Given the description of an element on the screen output the (x, y) to click on. 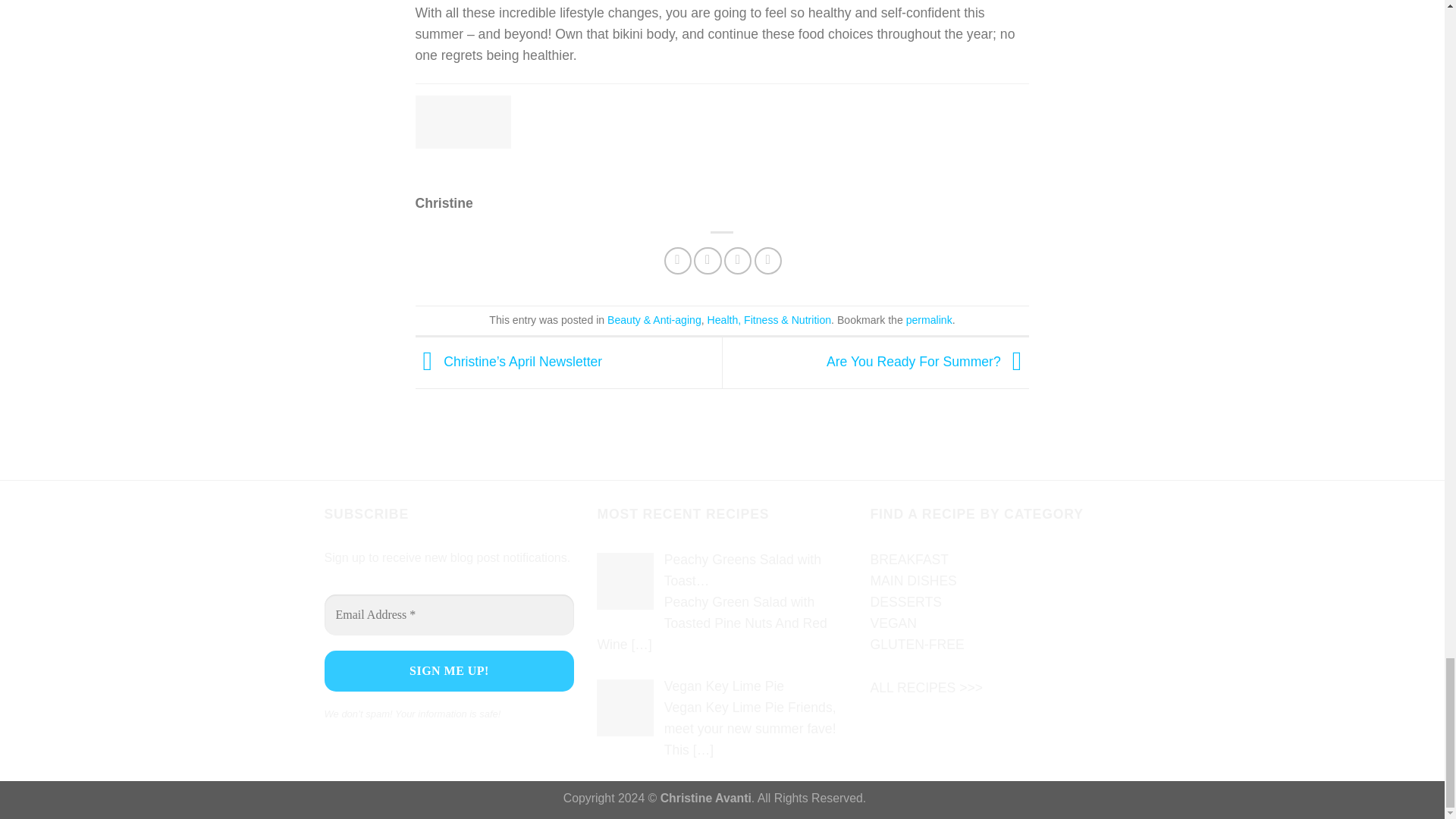
Email to a Friend (737, 260)
Permalink to Tips for a Healthy, Confident Body (928, 319)
Pin on Pinterest (767, 260)
Sign Me Up! (449, 670)
Share on Twitter (707, 260)
Email Address (449, 614)
Share on Facebook (677, 260)
